Given the description of an element on the screen output the (x, y) to click on. 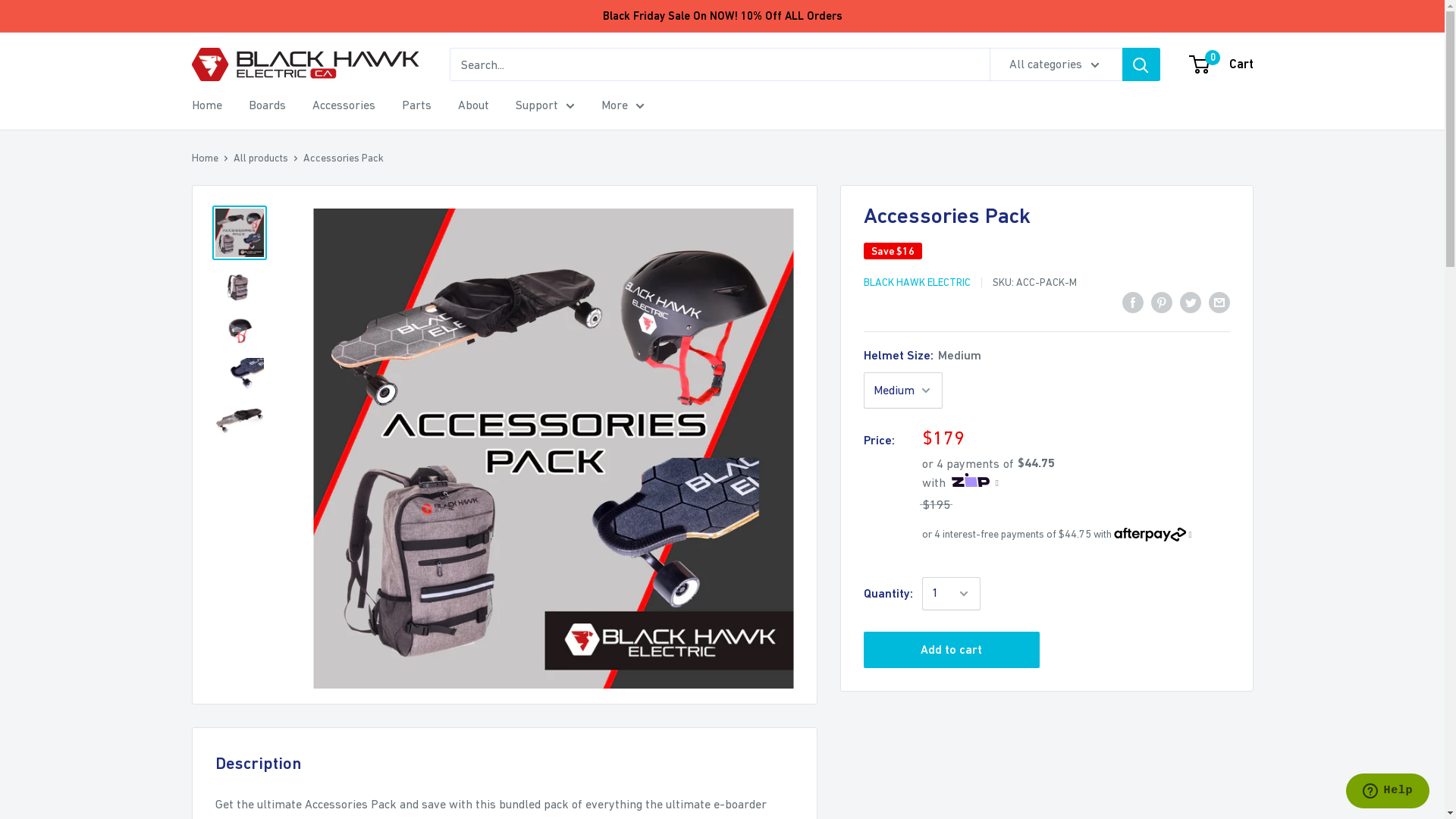
Home Element type: text (206, 105)
Home Element type: text (204, 157)
Add to cart Element type: text (950, 649)
Accessories Element type: text (343, 105)
Opens a widget where you can find more information Element type: hover (1387, 792)
All products Element type: text (260, 157)
BLACK HAWK ELECTRIC Element type: text (915, 282)
More Element type: text (621, 105)
Support Element type: text (544, 105)
Parts Element type: text (416, 105)
Boards Element type: text (266, 105)
0
Cart Element type: text (1221, 64)
About Element type: text (473, 105)
